Given the description of an element on the screen output the (x, y) to click on. 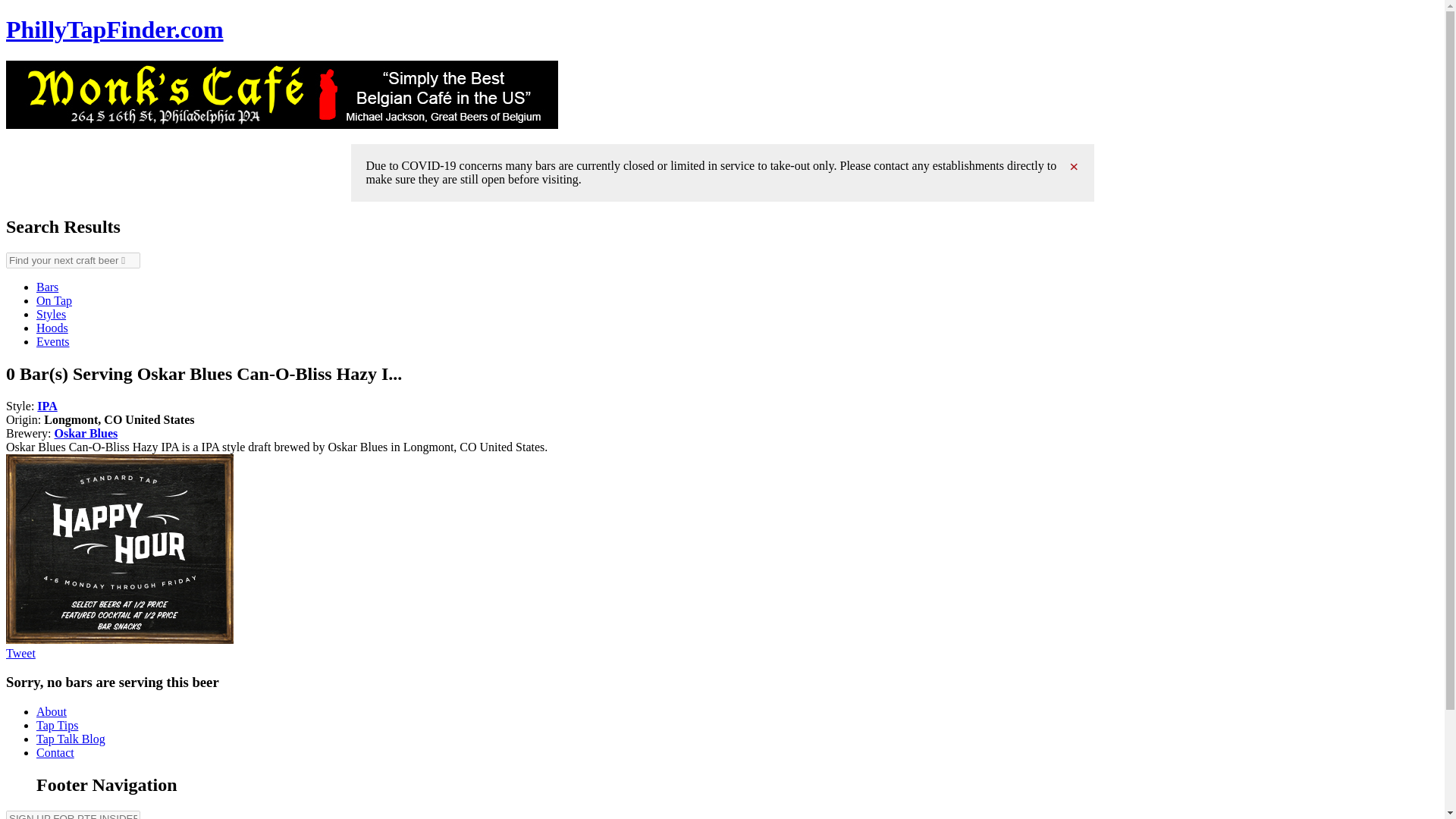
Contact (55, 752)
Tweet (19, 652)
Oskar Blues (86, 431)
Contact (55, 752)
Tap Tips (57, 725)
Tap Talk Blog (70, 738)
PhillyTapFinder.com (114, 29)
Tap Talk Blog (70, 738)
IPA (46, 404)
About (51, 711)
About (51, 711)
Tap Tips (57, 725)
PhillyTapFinder.com (114, 29)
IPA (46, 404)
